Given the description of an element on the screen output the (x, y) to click on. 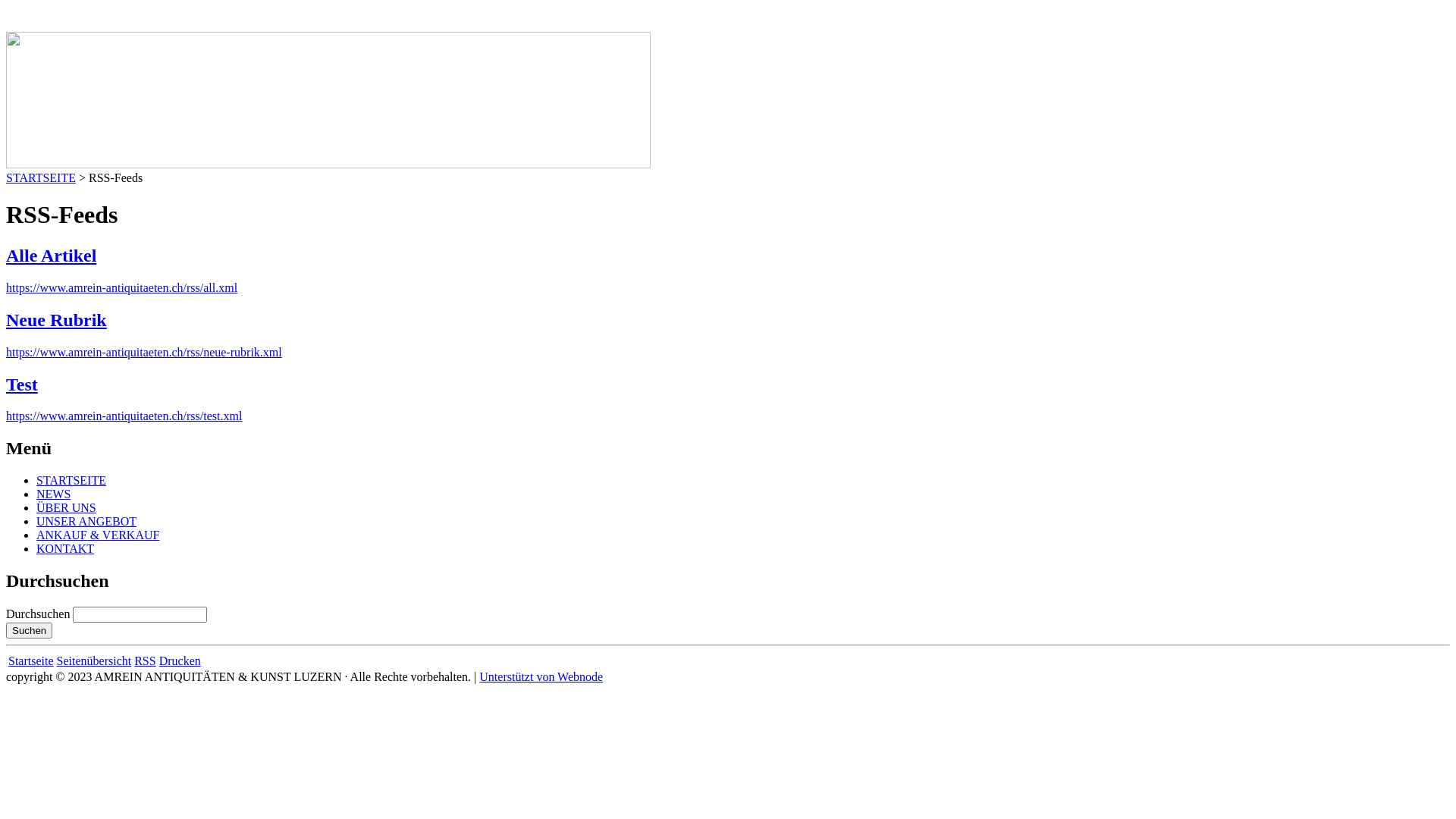
Test Element type: text (21, 384)
Suchen Element type: text (29, 630)
Alle Artikel Element type: text (51, 255)
NEWS Element type: text (53, 493)
KONTAKT Element type: text (65, 548)
Drucken Element type: text (179, 660)
https://www.amrein-antiquitaeten.ch/rss/neue-rubrik.xml Element type: text (144, 351)
https://www.amrein-antiquitaeten.ch/rss/test.xml Element type: text (123, 415)
UNSER ANGEBOT Element type: text (86, 520)
Zur Startseite Element type: hover (129, 12)
https://www.amrein-antiquitaeten.ch/rss/all.xml Element type: text (121, 287)
Startseite Element type: text (30, 660)
RSS Element type: text (144, 660)
ANKAUF & VERKAUF Element type: text (97, 534)
STARTSEITE Element type: text (71, 479)
STARTSEITE Element type: text (40, 177)
Neue Rubrik Element type: text (56, 319)
